Given the description of an element on the screen output the (x, y) to click on. 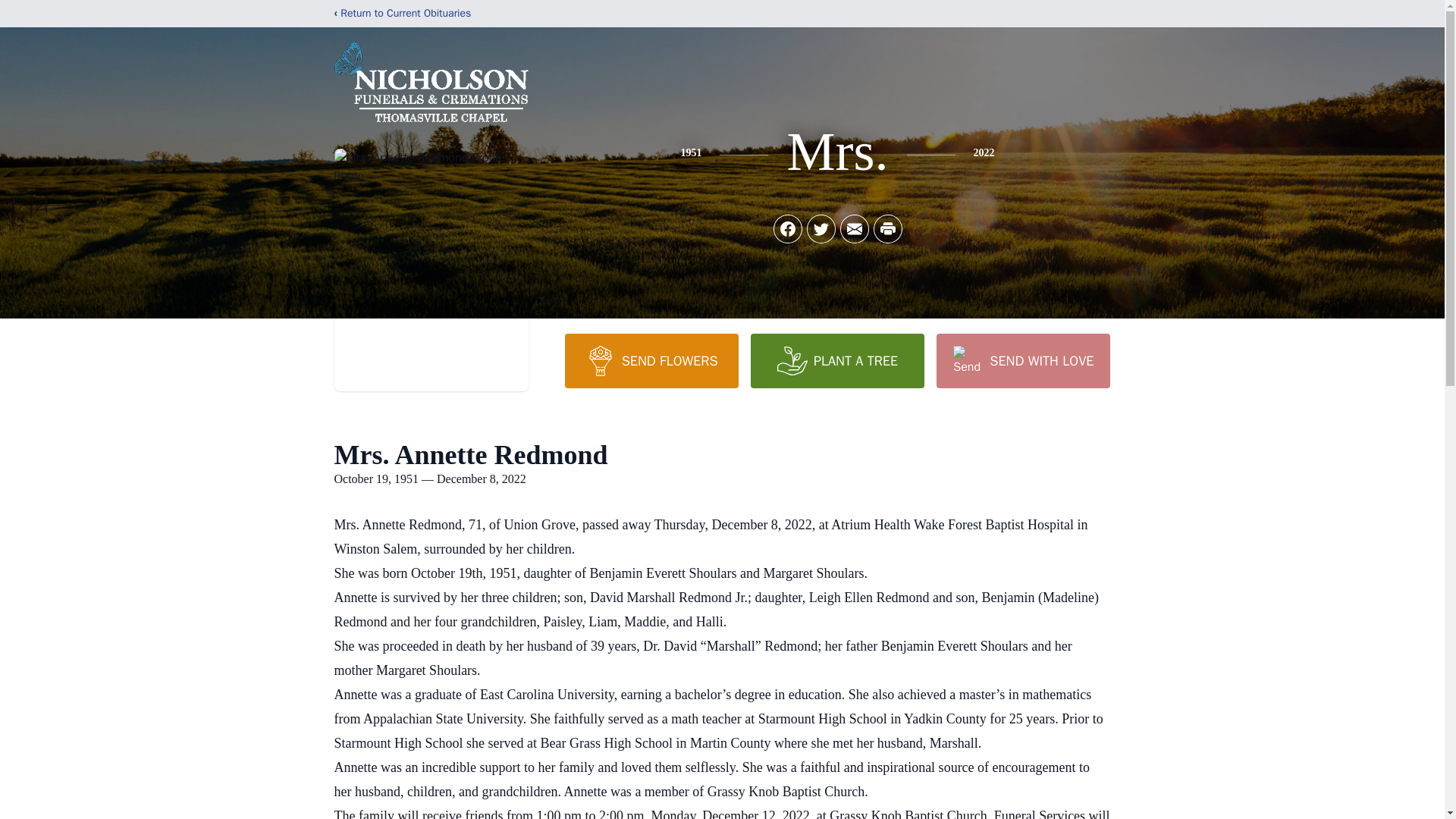
SEND FLOWERS (651, 360)
PLANT A TREE (837, 360)
SEND WITH LOVE (1022, 360)
